Given the description of an element on the screen output the (x, y) to click on. 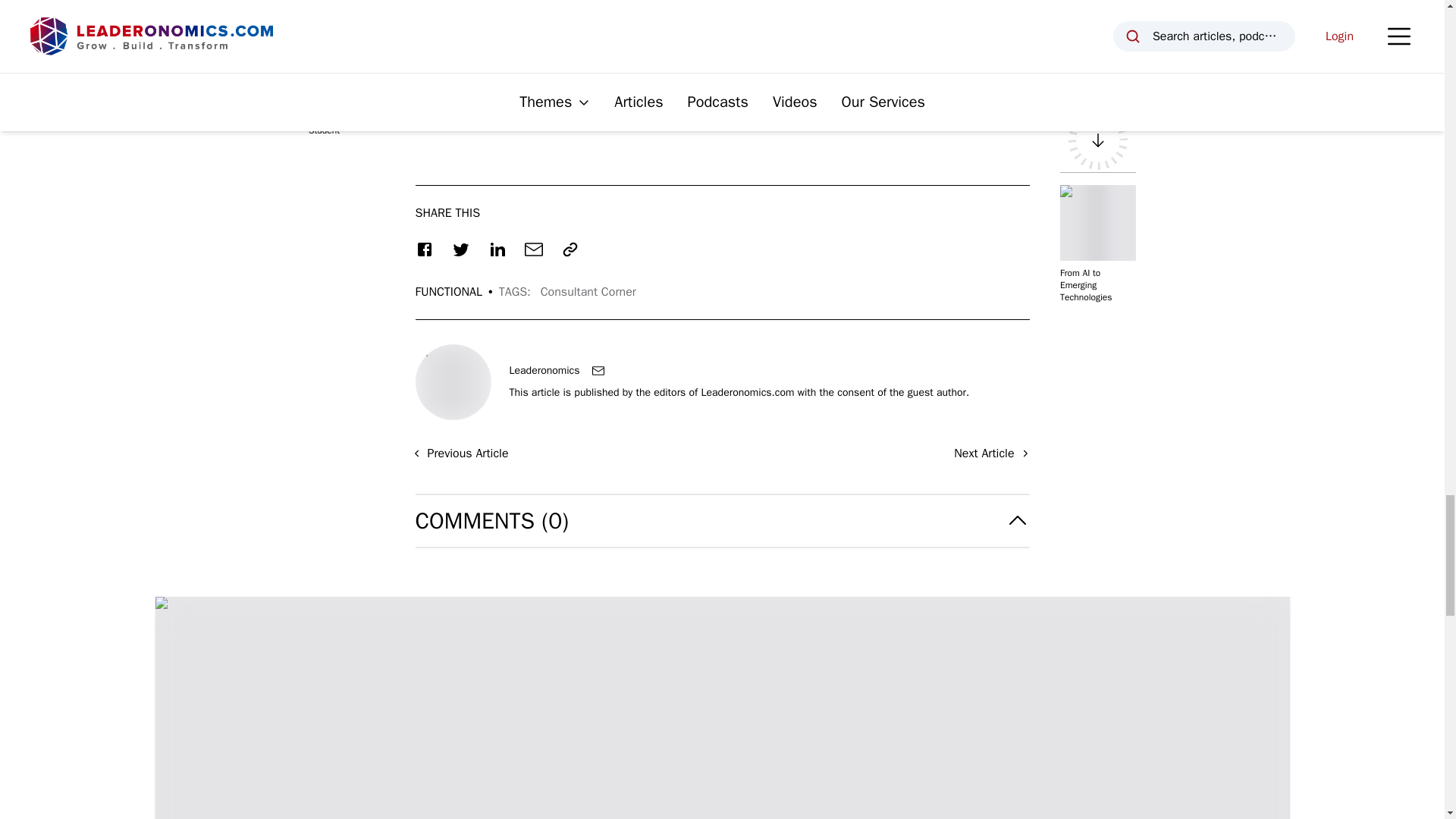
Consultant Corner (588, 291)
here (905, 81)
Leaderonomics (544, 370)
